Given the description of an element on the screen output the (x, y) to click on. 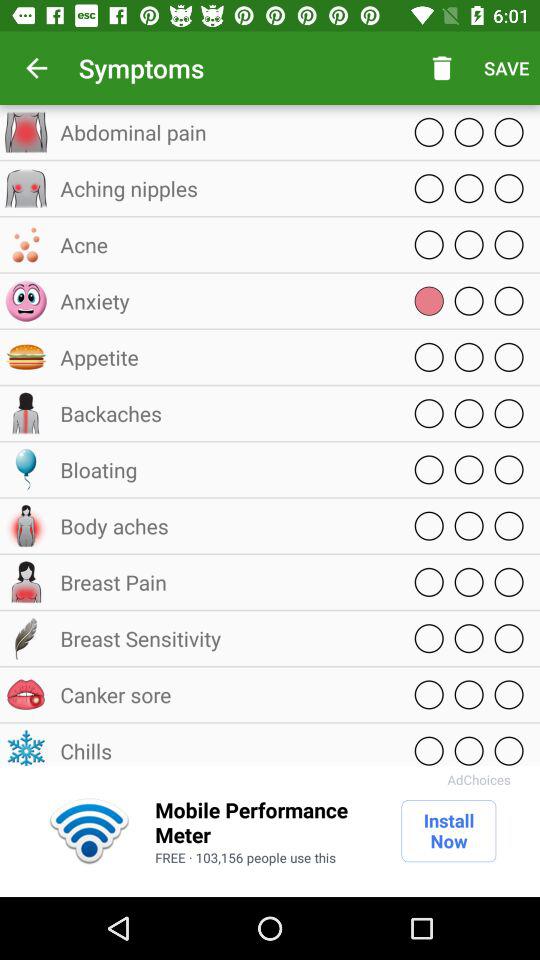
turn off the item above the abdominal pain (36, 68)
